Given the description of an element on the screen output the (x, y) to click on. 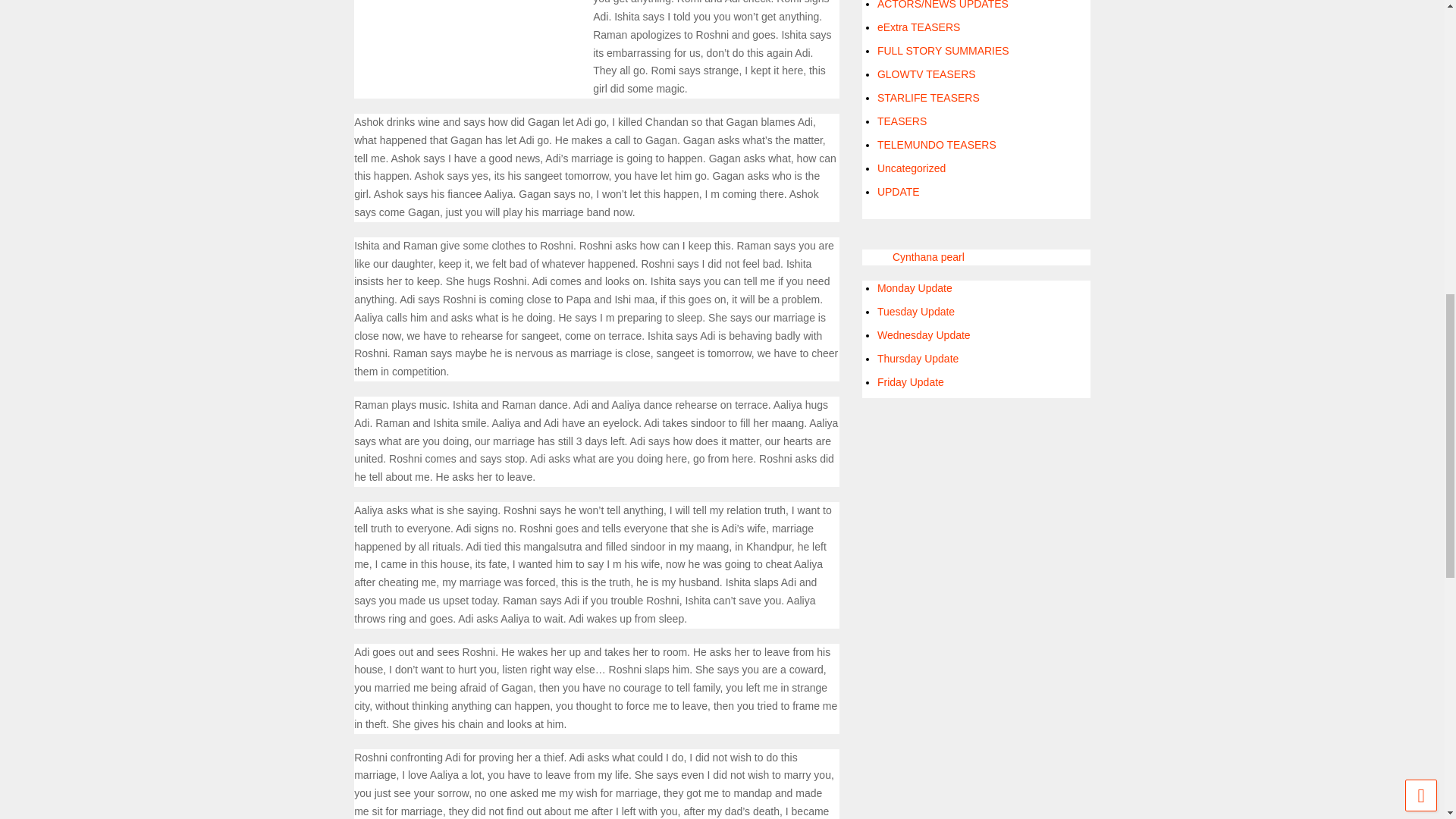
UPDATE (898, 191)
GLOWTV TEASERS (926, 73)
STARLIFE TEASERS (928, 97)
Wednesday Update (924, 335)
eExtra TEASERS (918, 27)
FULL STORY SUMMARIES (943, 50)
Monday Update (914, 287)
Cynthana pearl (927, 256)
TEASERS (901, 121)
Advertisement (466, 36)
TELEMUNDO TEASERS (936, 144)
Uncategorized (910, 168)
Tuesday Update (916, 311)
